Given the description of an element on the screen output the (x, y) to click on. 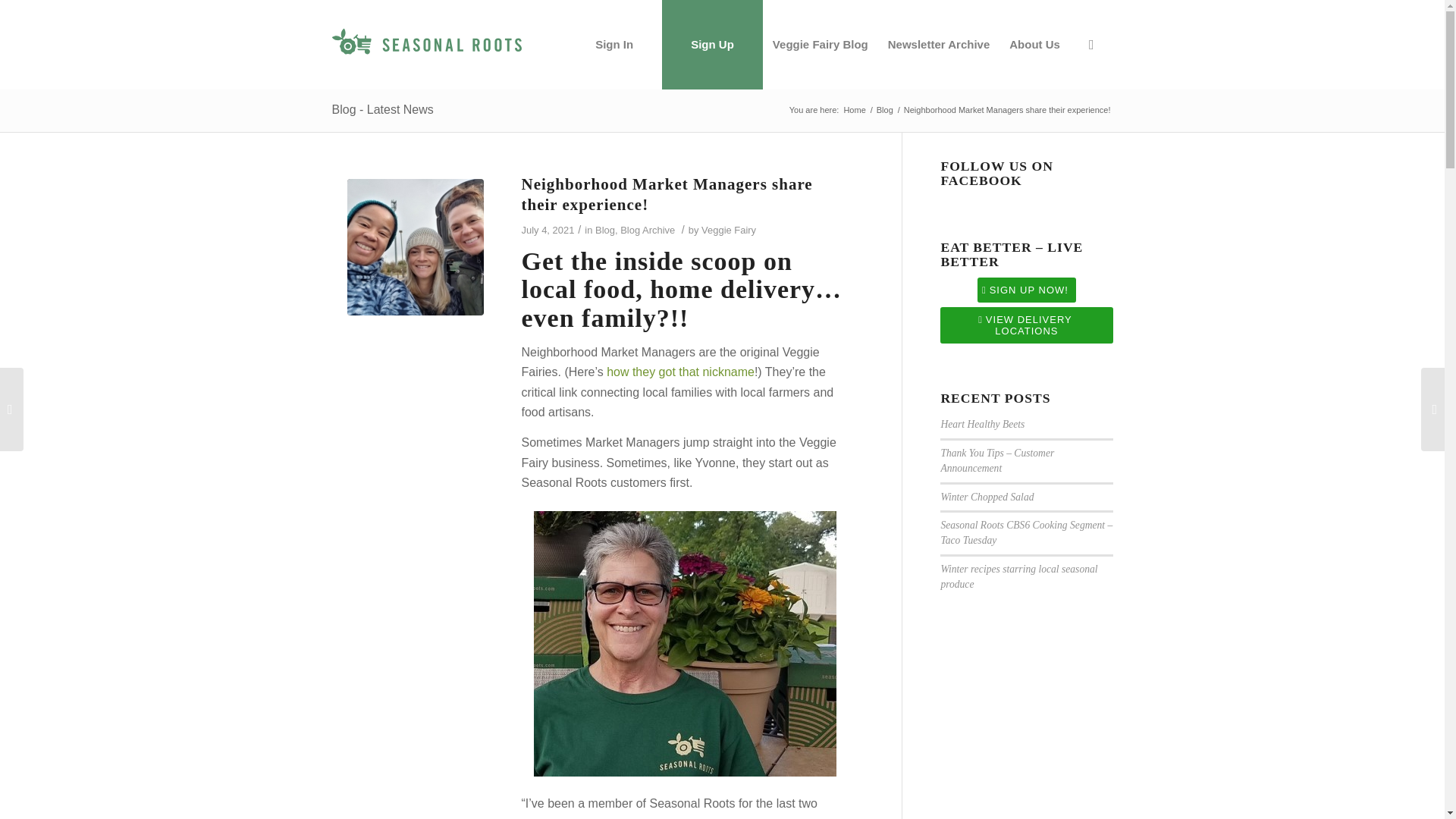
Veggie Fairy Blog (819, 44)
Blog (885, 110)
Neighborhood Market Managers share their experience! (666, 194)
Winter Chopped Salad (986, 496)
Posts by Veggie Fairy (728, 229)
Permanent Link: Blog - Latest News (382, 109)
SIGN UP NOW! (1025, 289)
Newsletter Archive (938, 44)
The Veggie Fairy Team (854, 110)
Heart Healthy Beets (982, 423)
VIEW DELIVERY LOCATIONS (1026, 325)
Blog - Latest News (382, 109)
Blog (604, 229)
Veggie Fairy (728, 229)
